Given the description of an element on the screen output the (x, y) to click on. 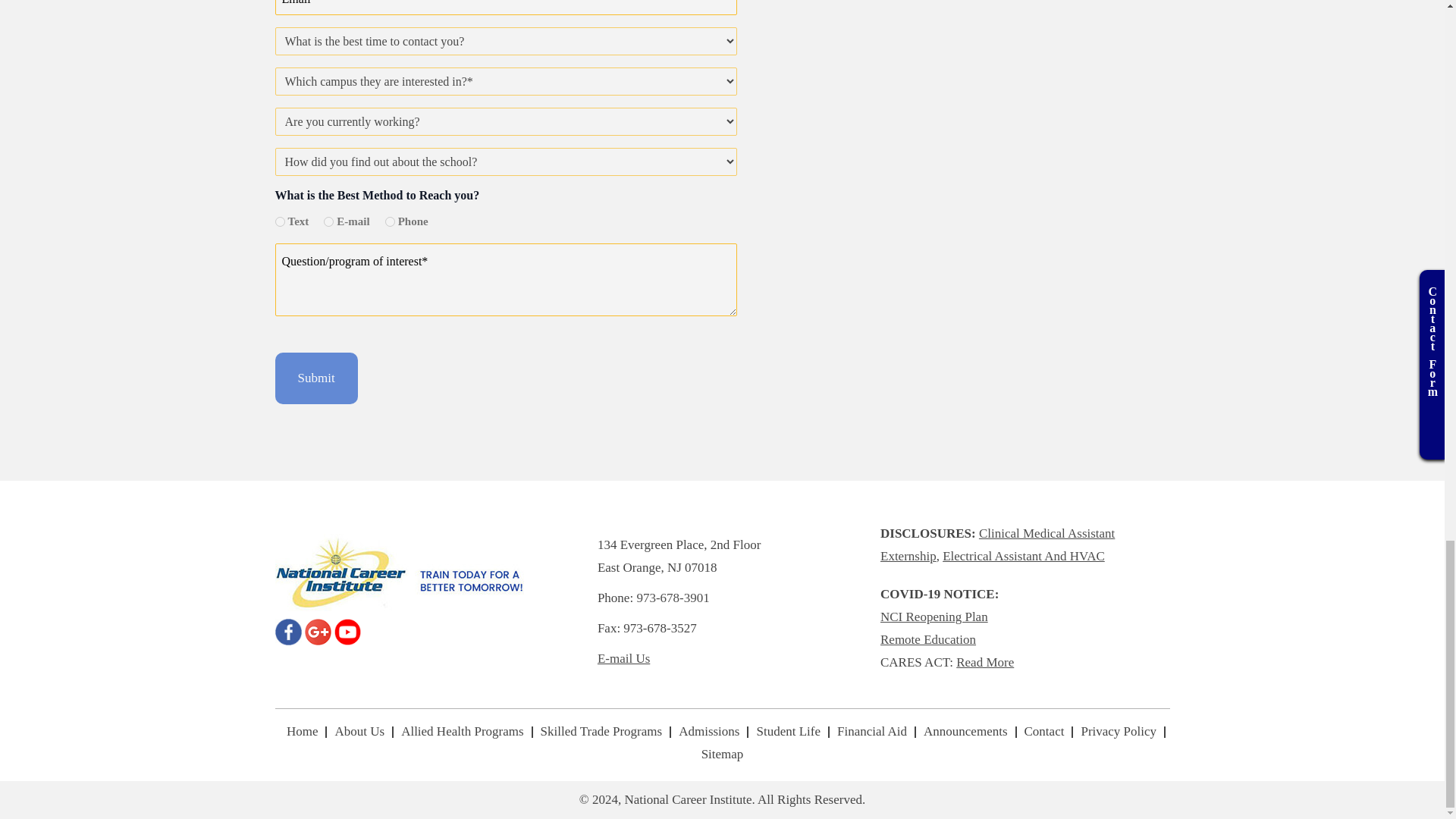
Text (279, 221)
Submit (315, 378)
E-mail (328, 221)
Phone (389, 221)
